Given the description of an element on the screen output the (x, y) to click on. 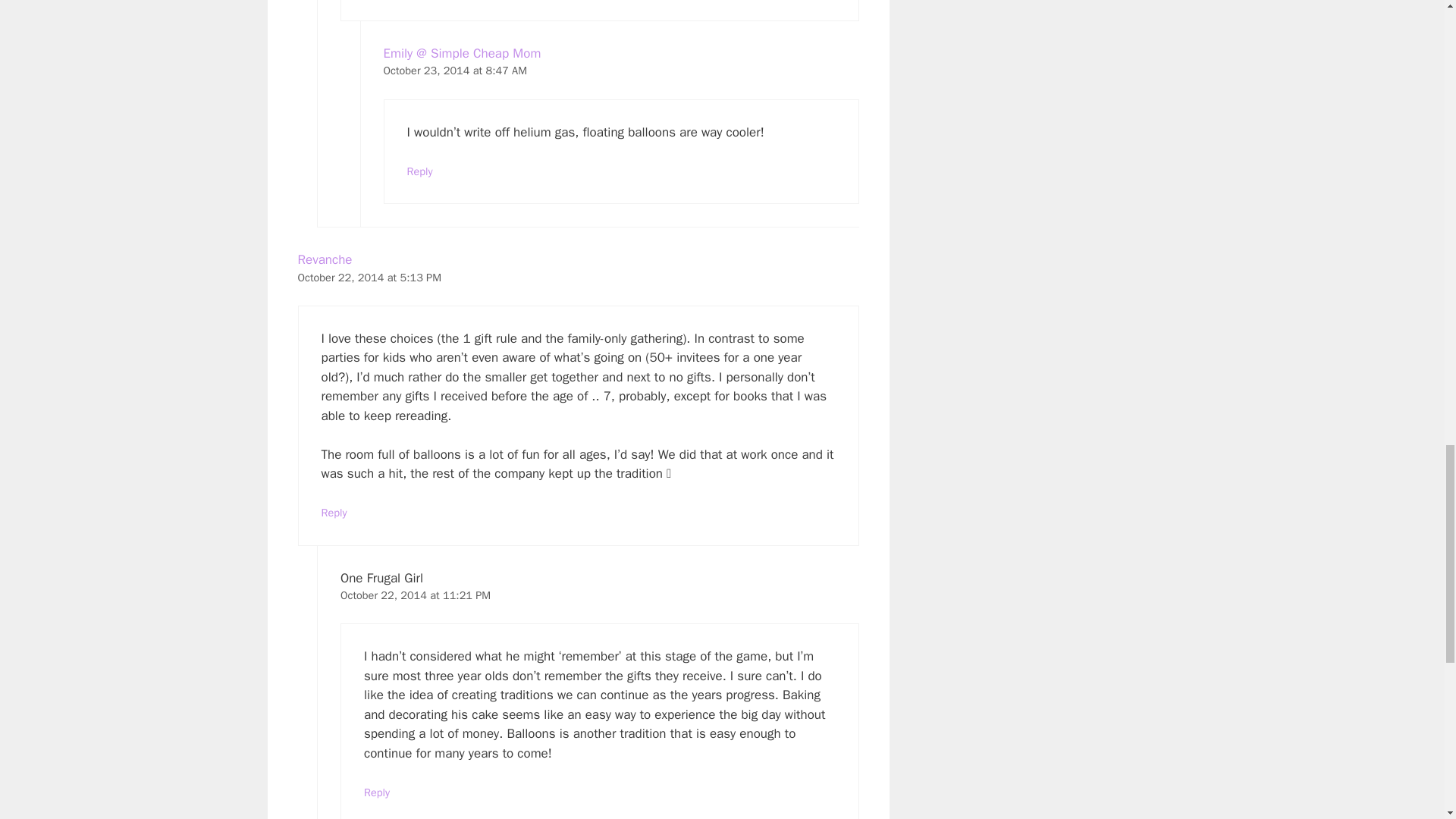
Revanche (324, 259)
October 23, 2014 at 8:47 AM (455, 69)
Reply (419, 171)
Reply (377, 792)
October 22, 2014 at 11:21 PM (415, 594)
October 22, 2014 at 5:13 PM (369, 277)
Reply (334, 512)
